Given the description of an element on the screen output the (x, y) to click on. 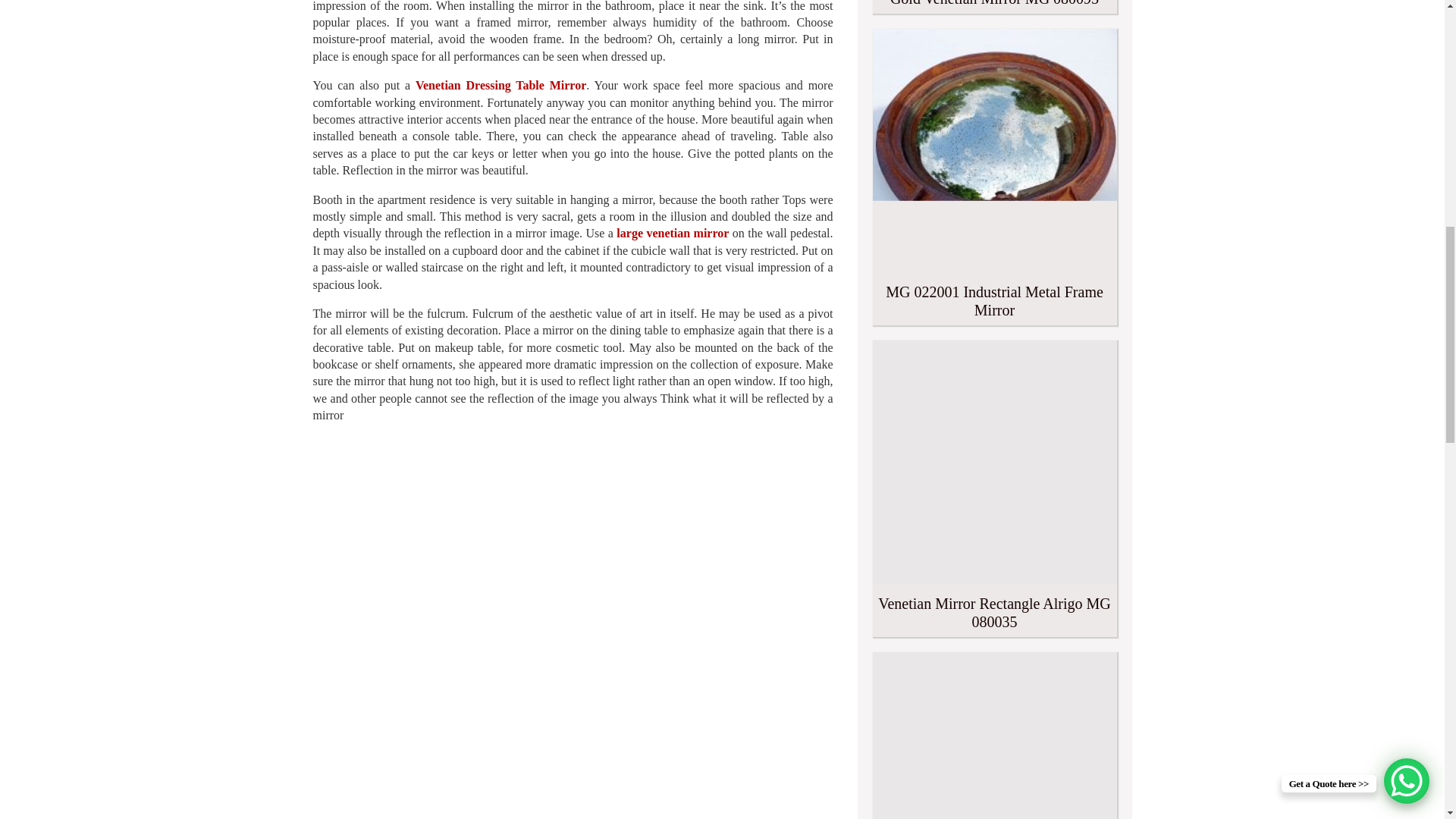
large venetian mirror (672, 232)
Gold Venetian Mirror MG 080095 (994, 6)
Venetian Dressing Table Mirror (500, 84)
Venetian Mirror MG 001118 (994, 735)
